Given the description of an element on the screen output the (x, y) to click on. 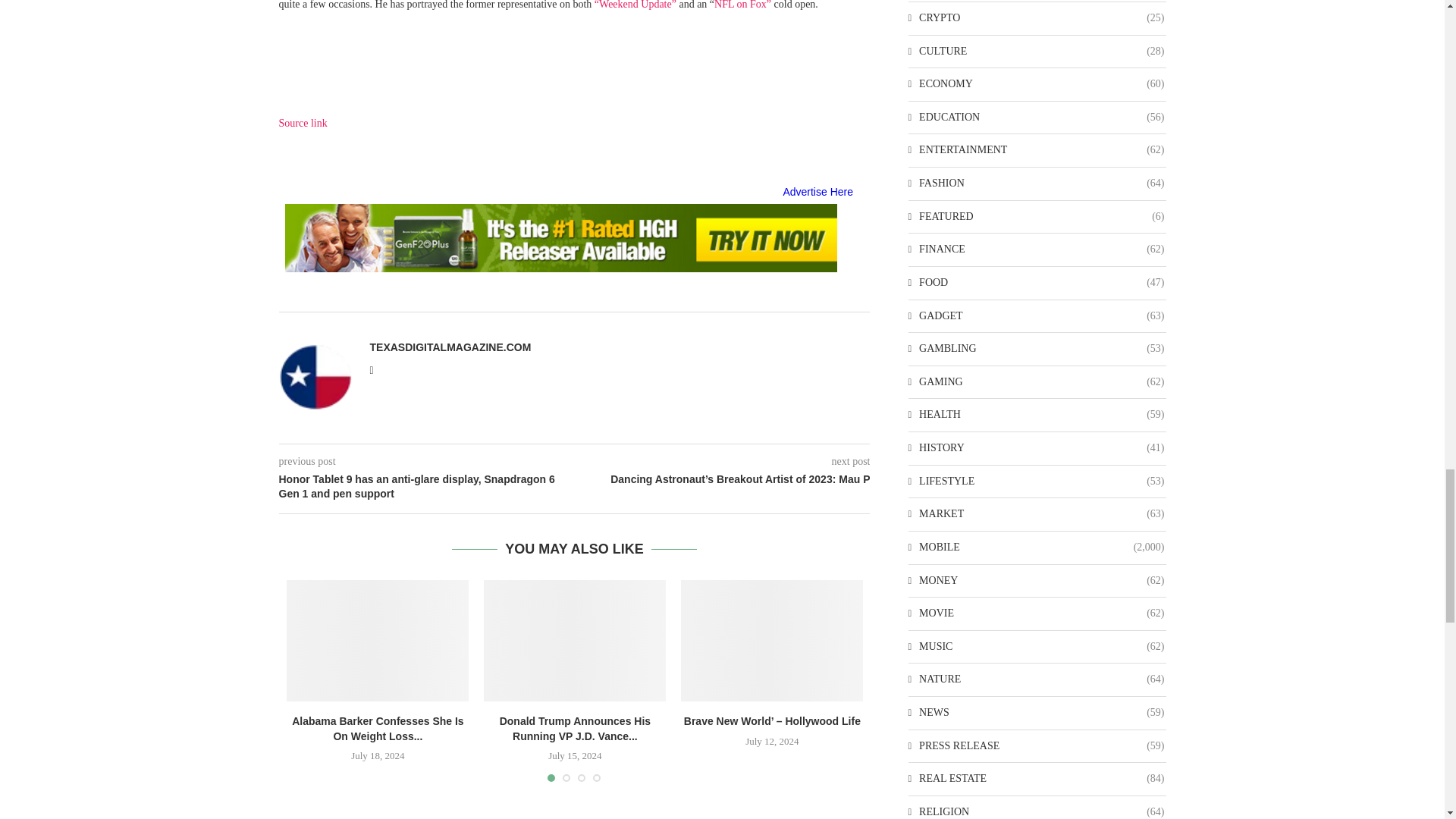
Author TexasDigitalMagazine.com (450, 346)
